Given the description of an element on the screen output the (x, y) to click on. 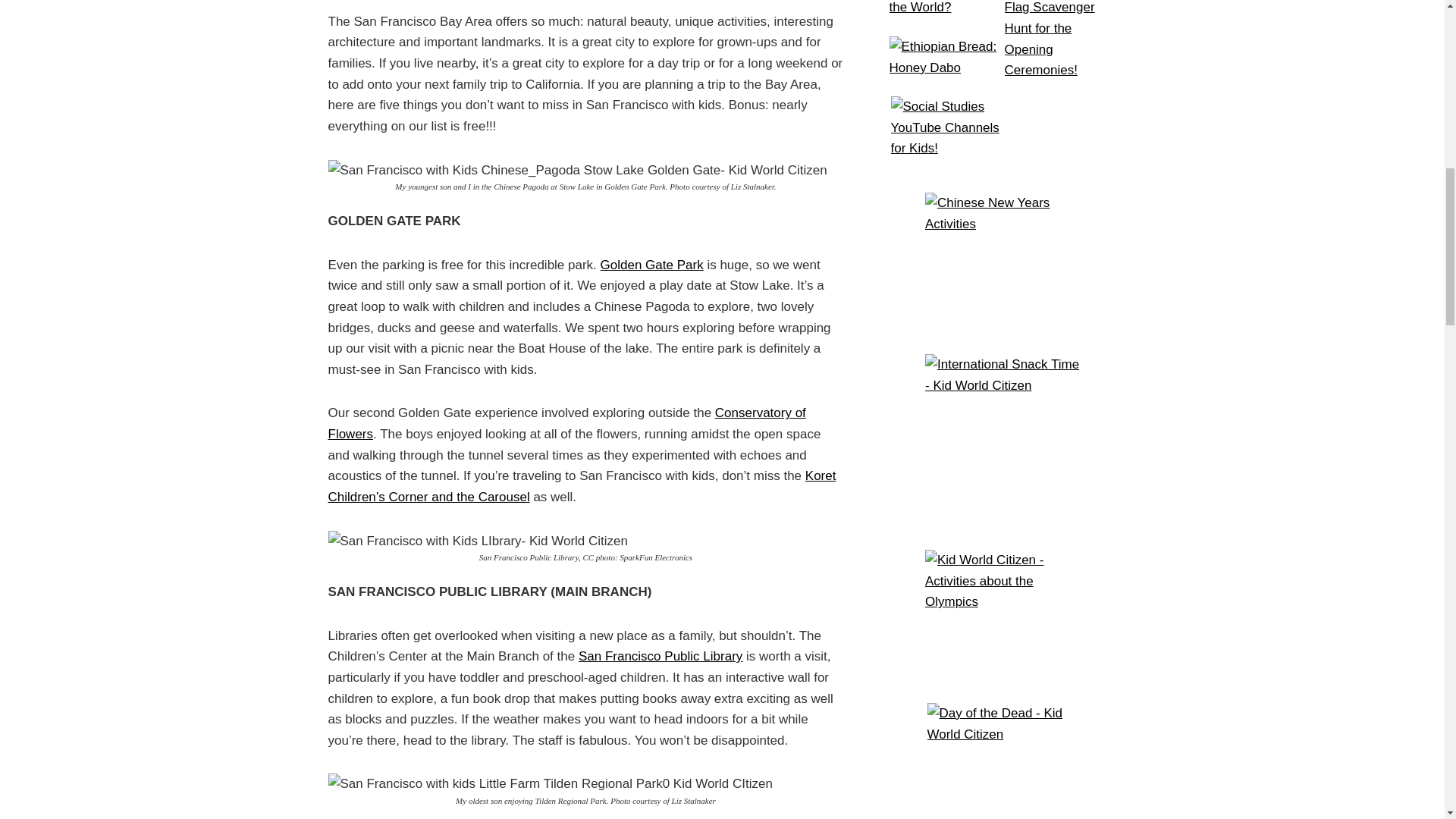
Golden Gate Park (651, 264)
Social Studies YouTube Channels for Kids! (946, 135)
Chinese New Years Activities (1002, 257)
Ethiopian Bread: Honey Dabo (944, 64)
Who is the Fastest Person in the World? (944, 16)
San Francisco Public Library (660, 656)
Conservatory of Flowers (566, 423)
